Given the description of an element on the screen output the (x, y) to click on. 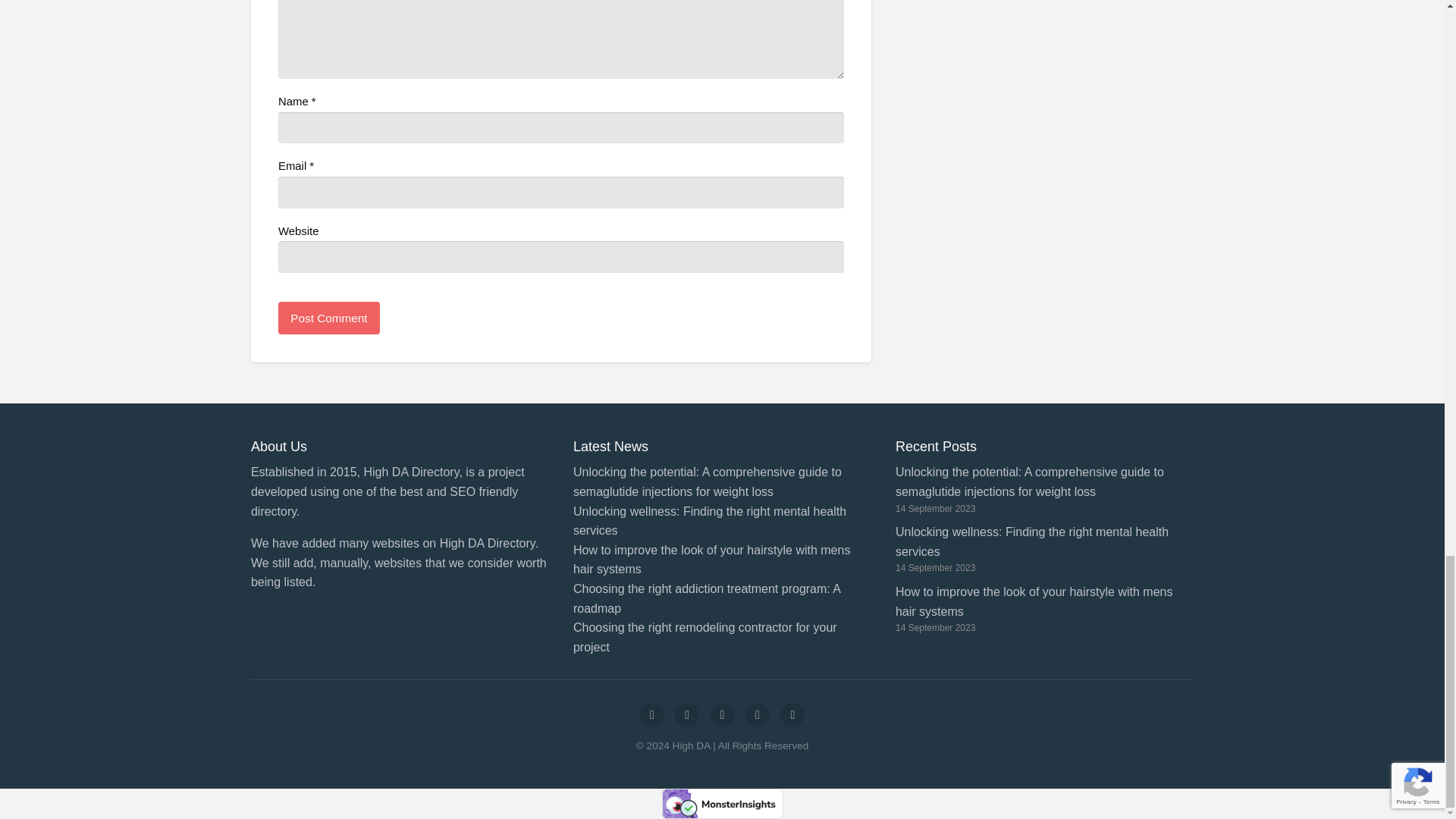
Post Comment (329, 318)
